Given the description of an element on the screen output the (x, y) to click on. 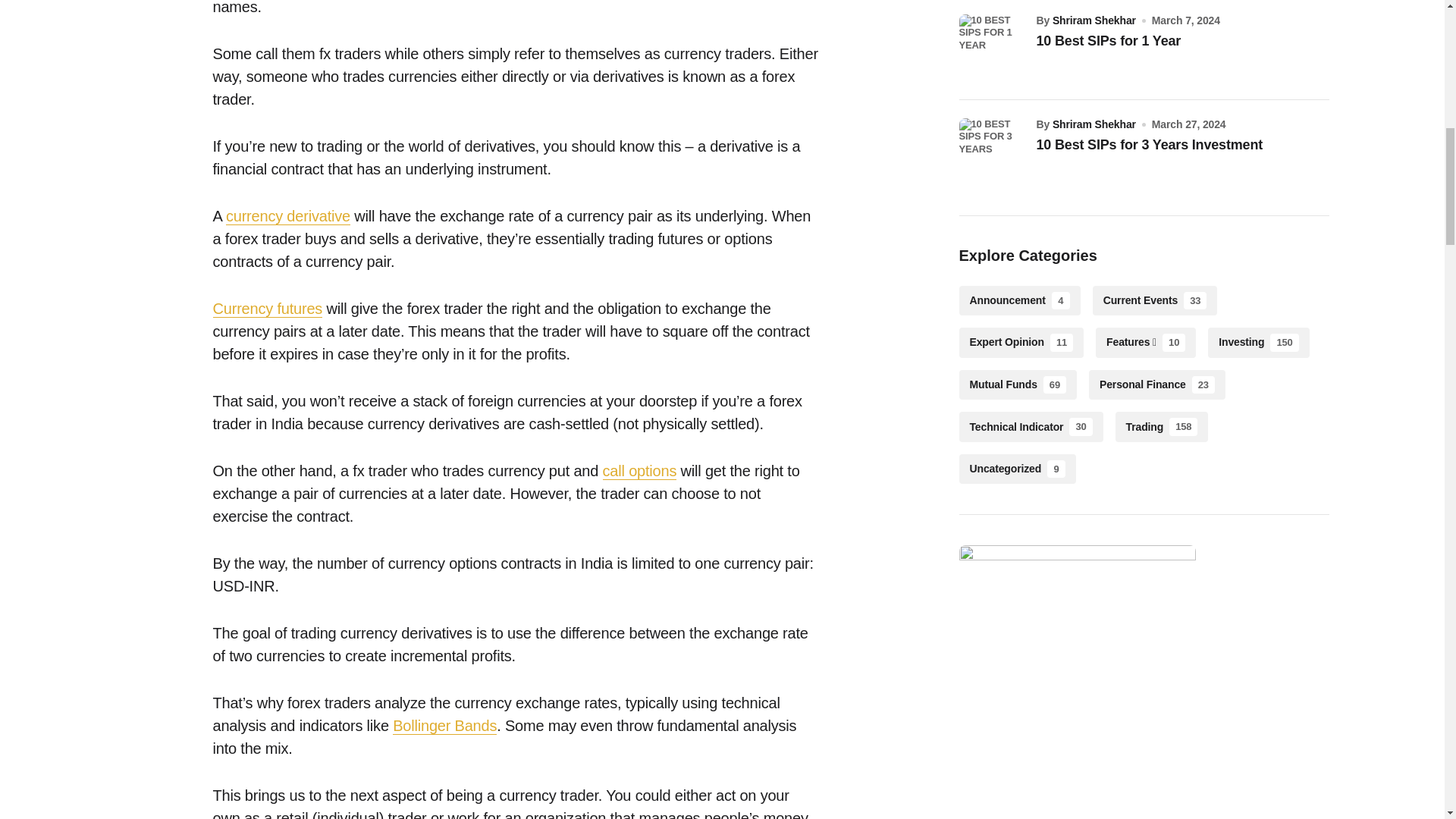
Bollinger Bands (444, 725)
Currency futures (266, 308)
call options (639, 470)
currency derivative (287, 216)
